Given the description of an element on the screen output the (x, y) to click on. 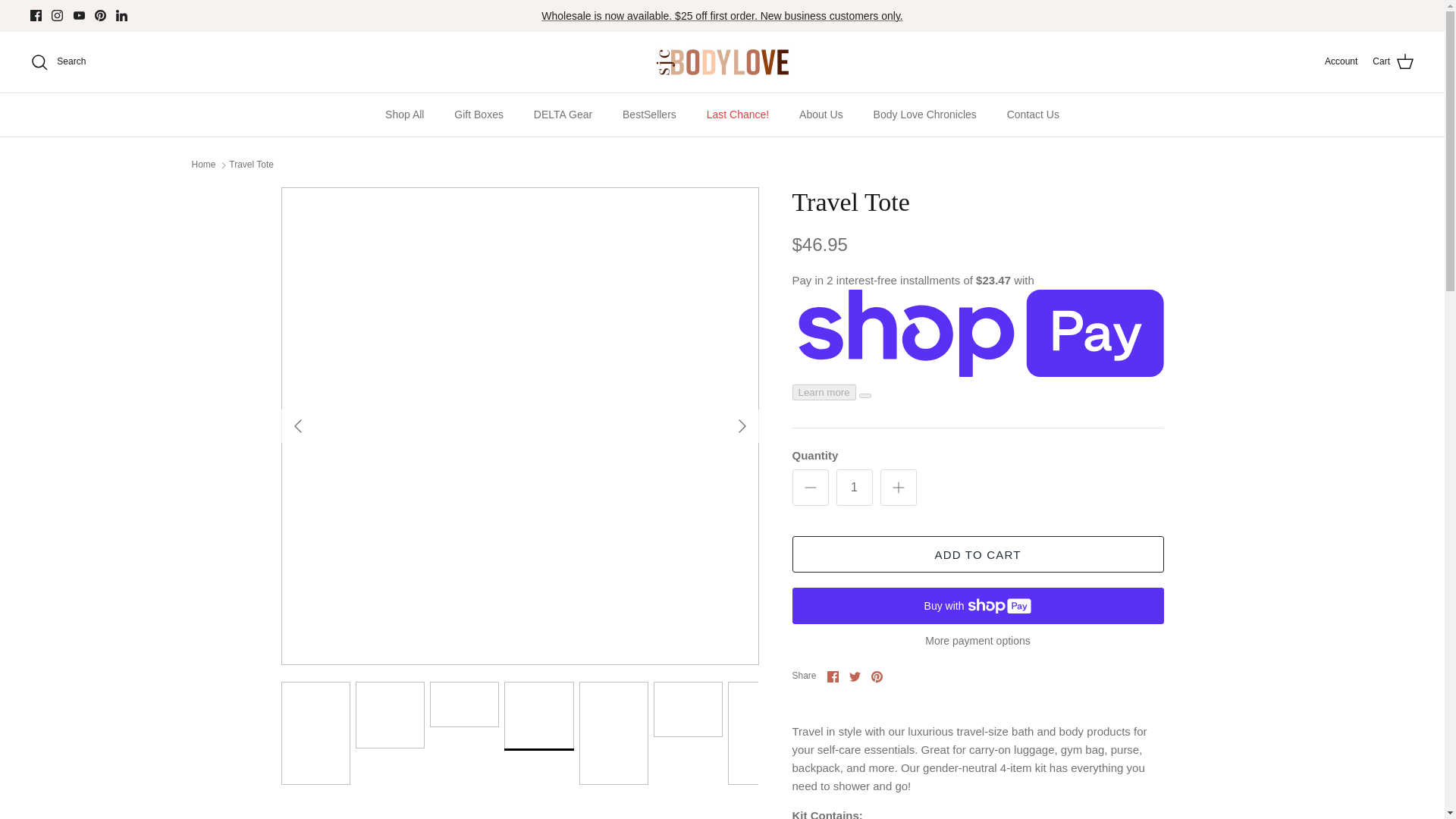
Facebook (832, 675)
Pinterest (876, 675)
Minus (809, 487)
About Us (821, 114)
LEFT (296, 426)
BestSellers (649, 114)
Last Chance! (738, 114)
Gift Boxes (478, 114)
Cart (1393, 62)
Pinterest (100, 15)
Instagram (56, 15)
Plus (897, 487)
DELTA Gear (562, 114)
Facebook (36, 15)
Pinterest (100, 15)
